Given the description of an element on the screen output the (x, y) to click on. 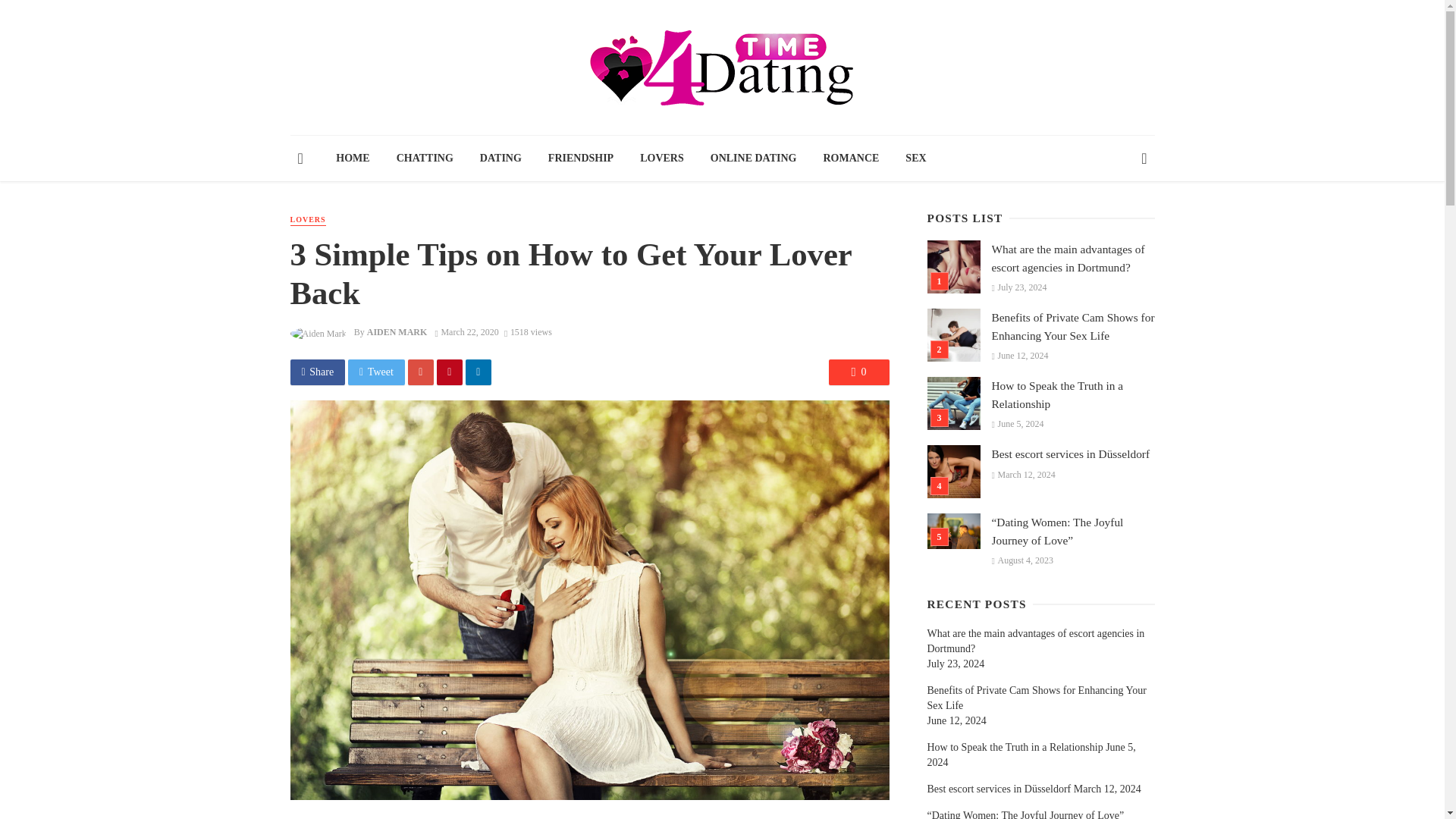
Posts by Aiden Mark (397, 331)
Share on Facebook (317, 371)
Share on Twitter (375, 371)
HOME (352, 157)
LOVERS (306, 220)
CHATTING (423, 157)
SEX (915, 157)
AIDEN MARK (397, 331)
Share (317, 371)
0 (858, 371)
